Given the description of an element on the screen output the (x, y) to click on. 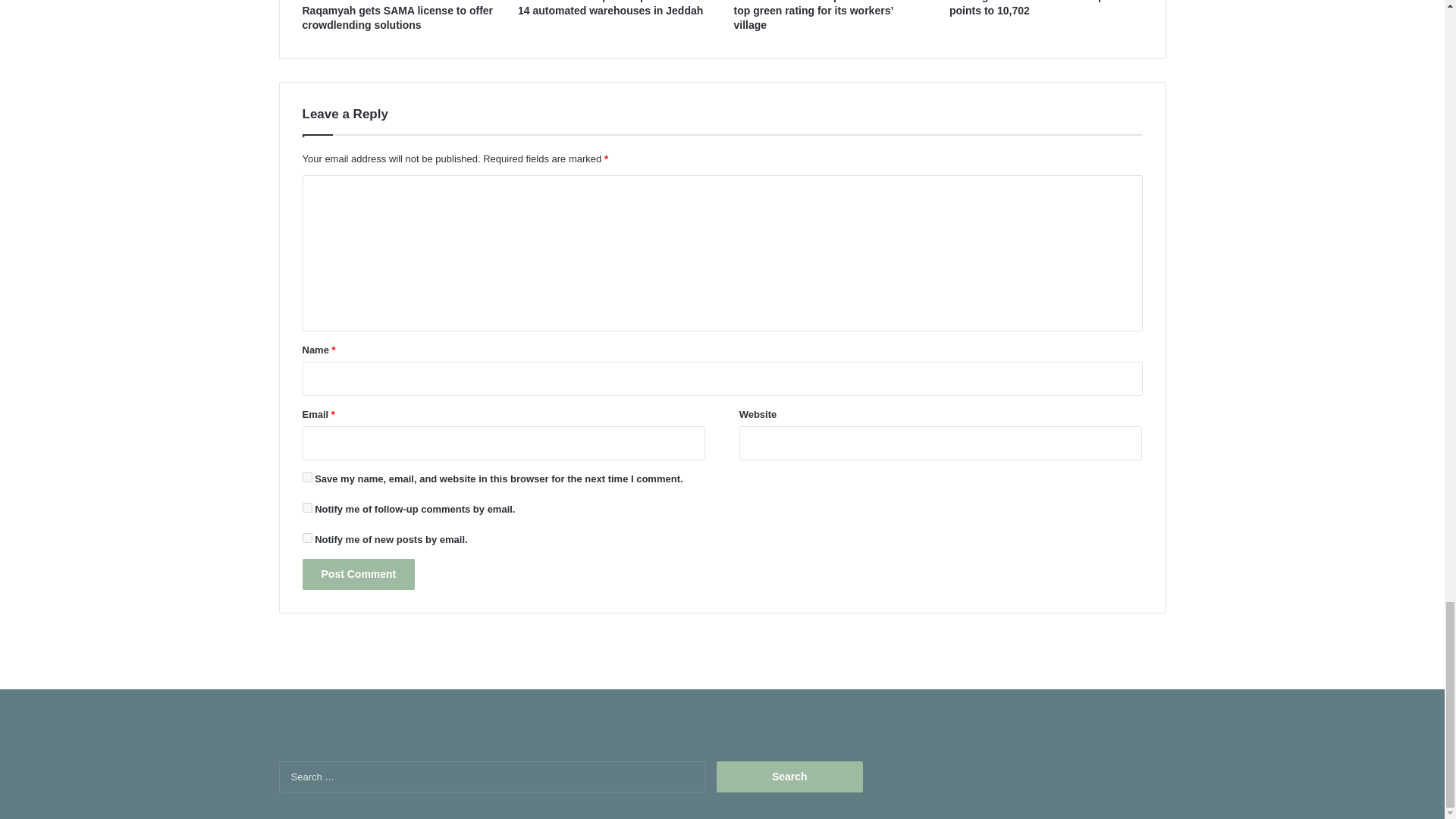
Search (789, 776)
Search (789, 776)
subscribe (306, 507)
yes (306, 477)
Post Comment (357, 573)
subscribe (306, 537)
